Given the description of an element on the screen output the (x, y) to click on. 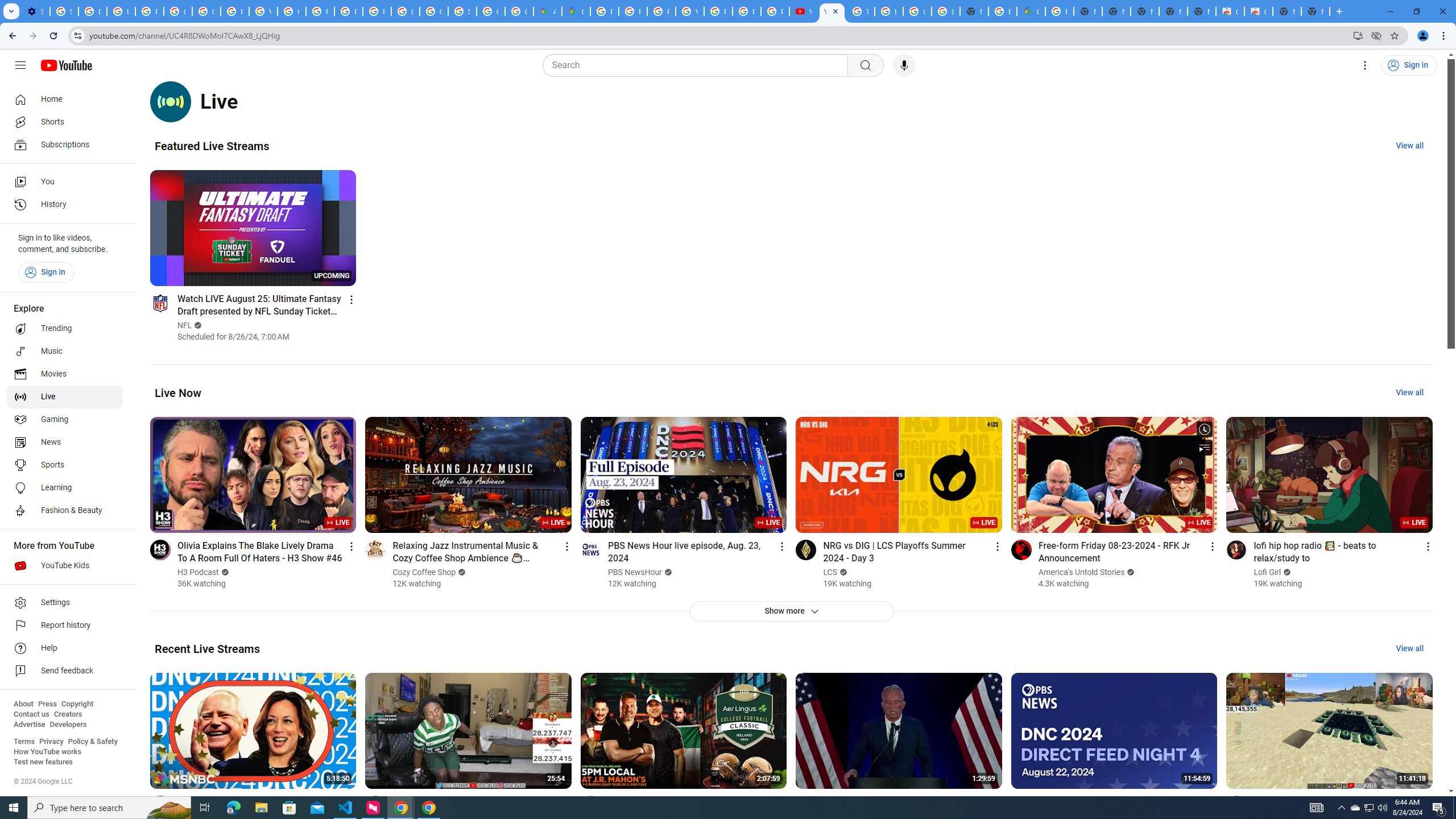
Contact us (31, 714)
News (64, 441)
Report history (64, 625)
Google Maps (575, 11)
NFL (184, 325)
Advertise (29, 724)
YouTube Home (66, 65)
Classic Blue - Chrome Web Store (1258, 11)
